Given the description of an element on the screen output the (x, y) to click on. 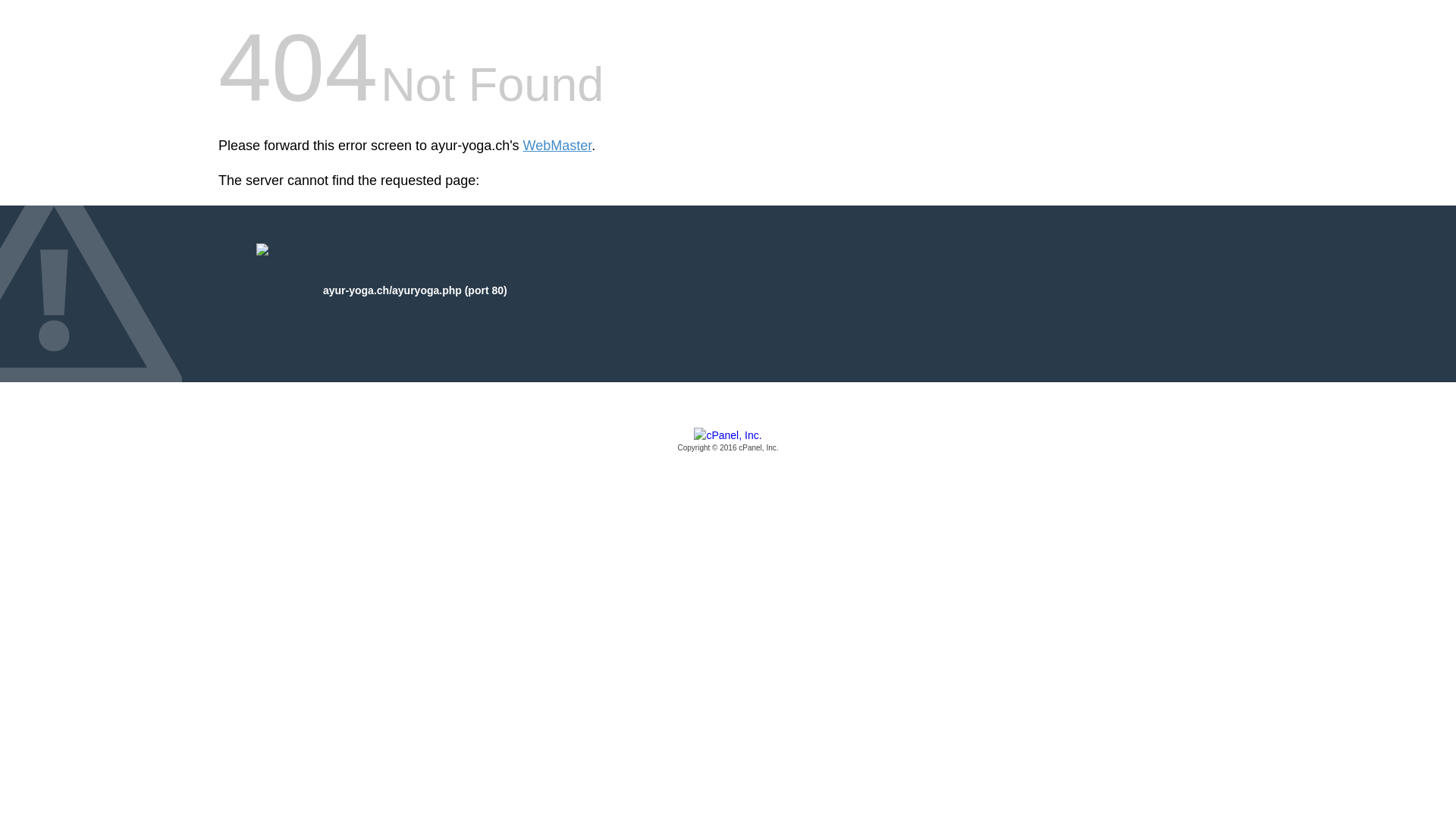
WebMaster Element type: text (557, 145)
